Given the description of an element on the screen output the (x, y) to click on. 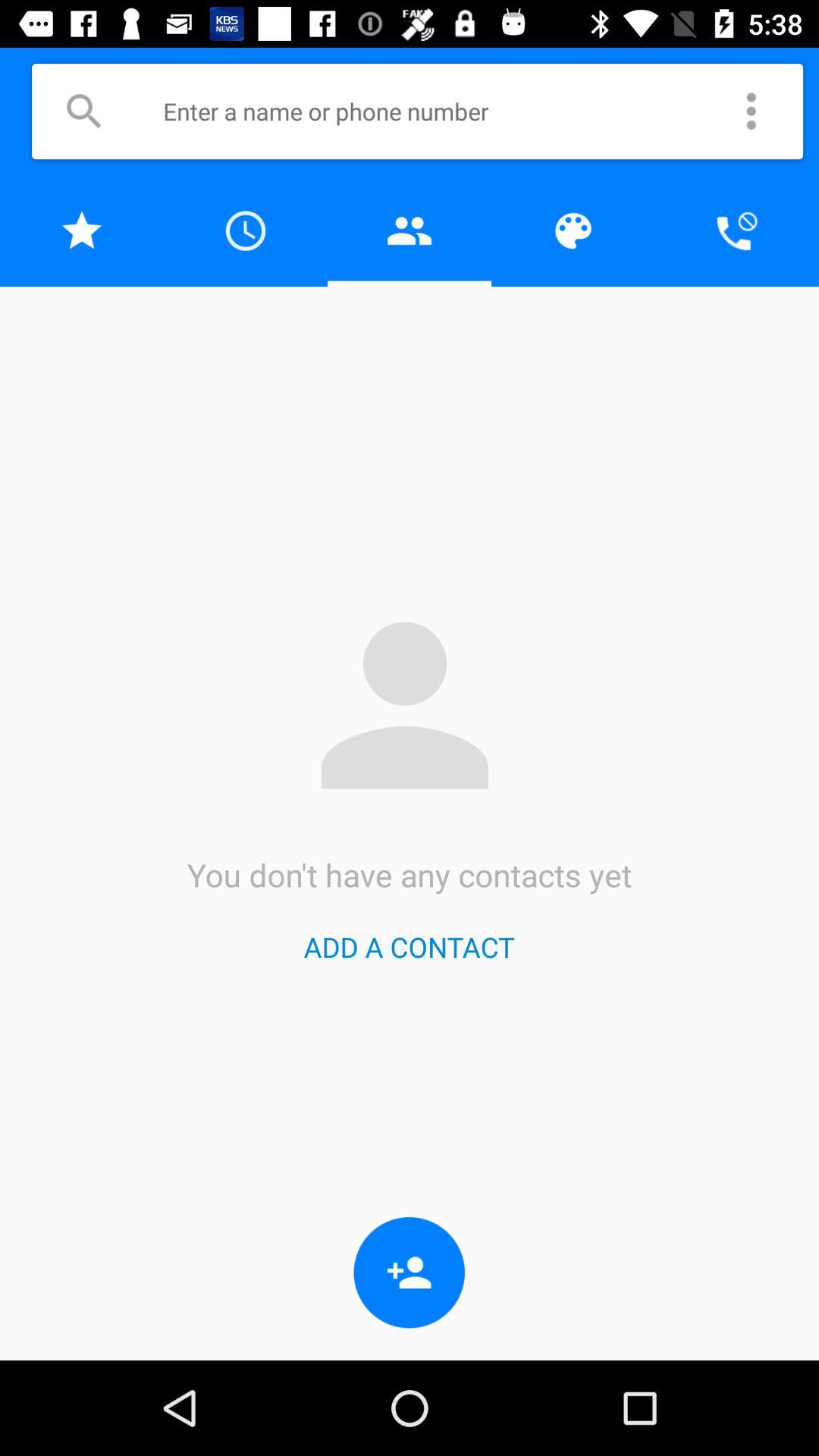
call history (245, 230)
